Given the description of an element on the screen output the (x, y) to click on. 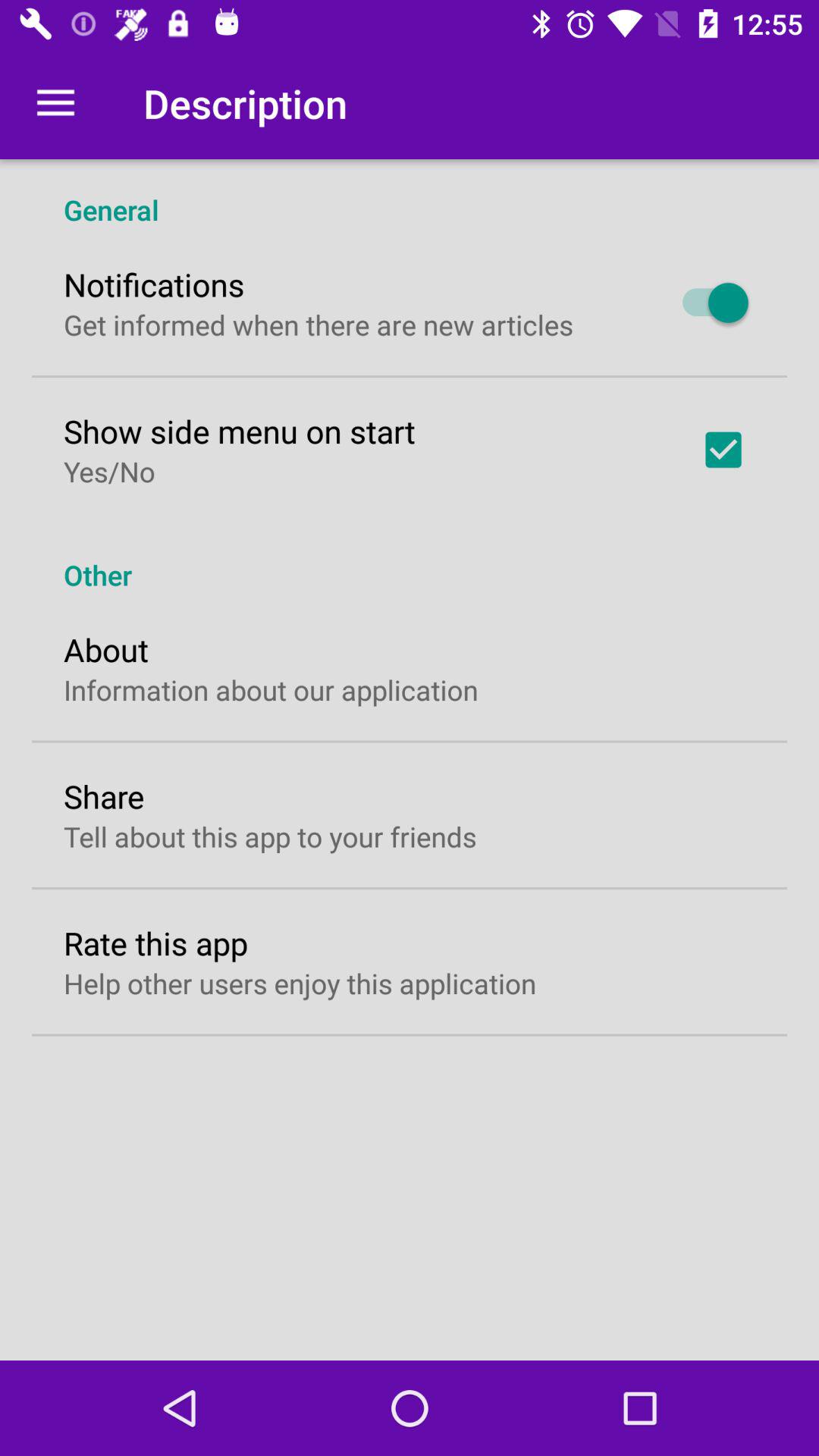
tap item to the right of show side menu icon (723, 449)
